Given the description of an element on the screen output the (x, y) to click on. 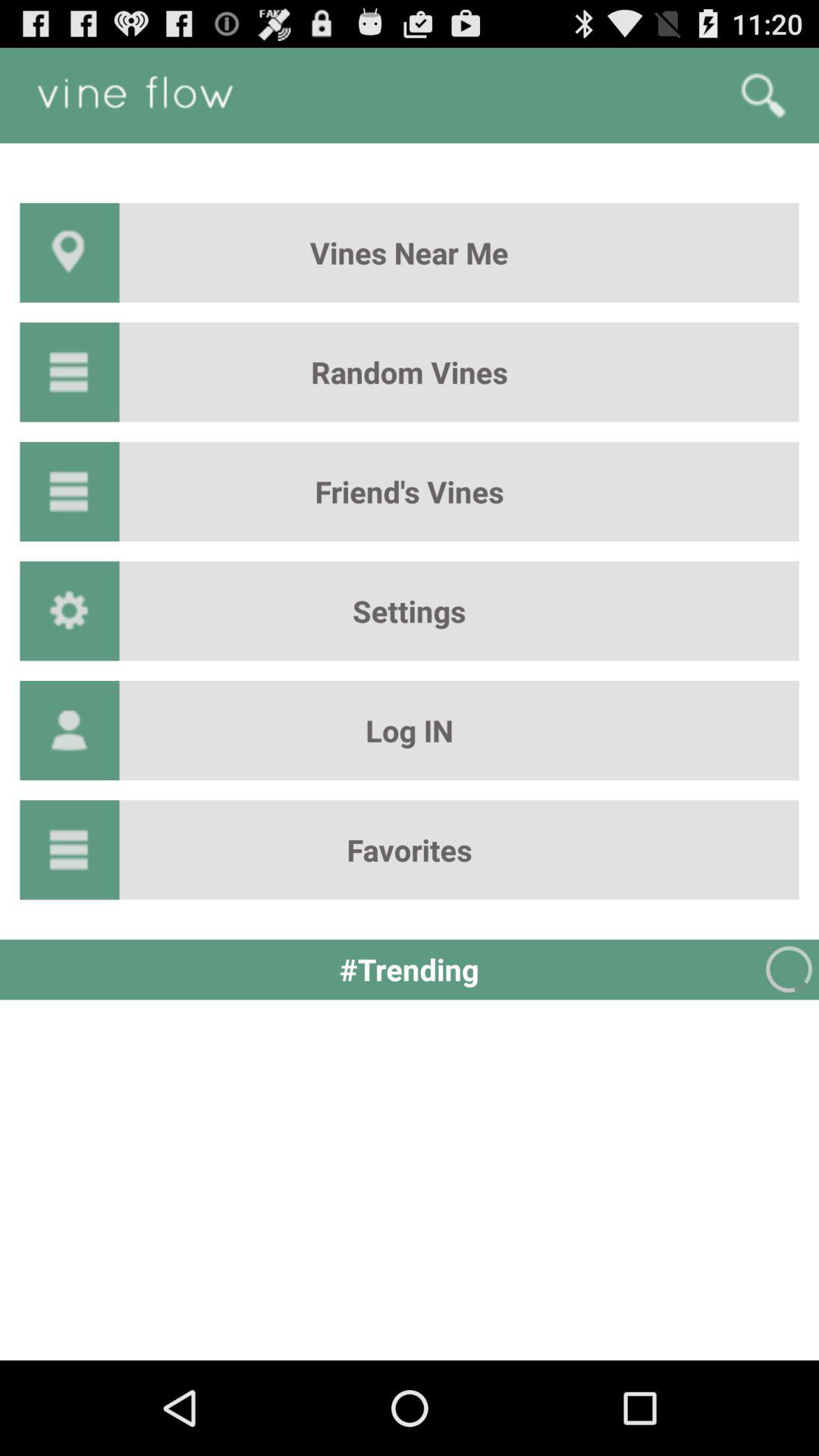
turn on icon at the top right corner (763, 95)
